Given the description of an element on the screen output the (x, y) to click on. 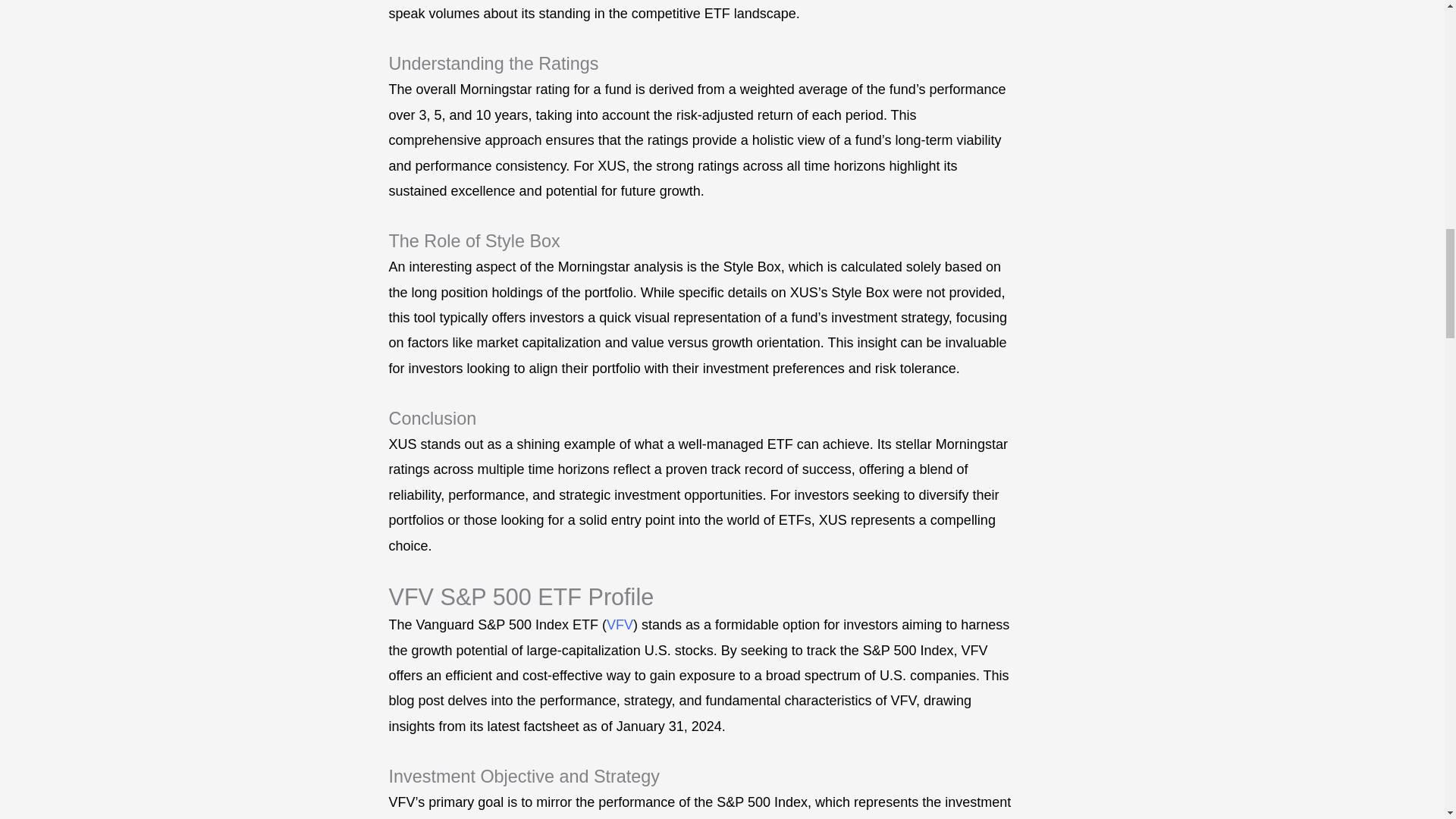
VFV (620, 624)
